Given the description of an element on the screen output the (x, y) to click on. 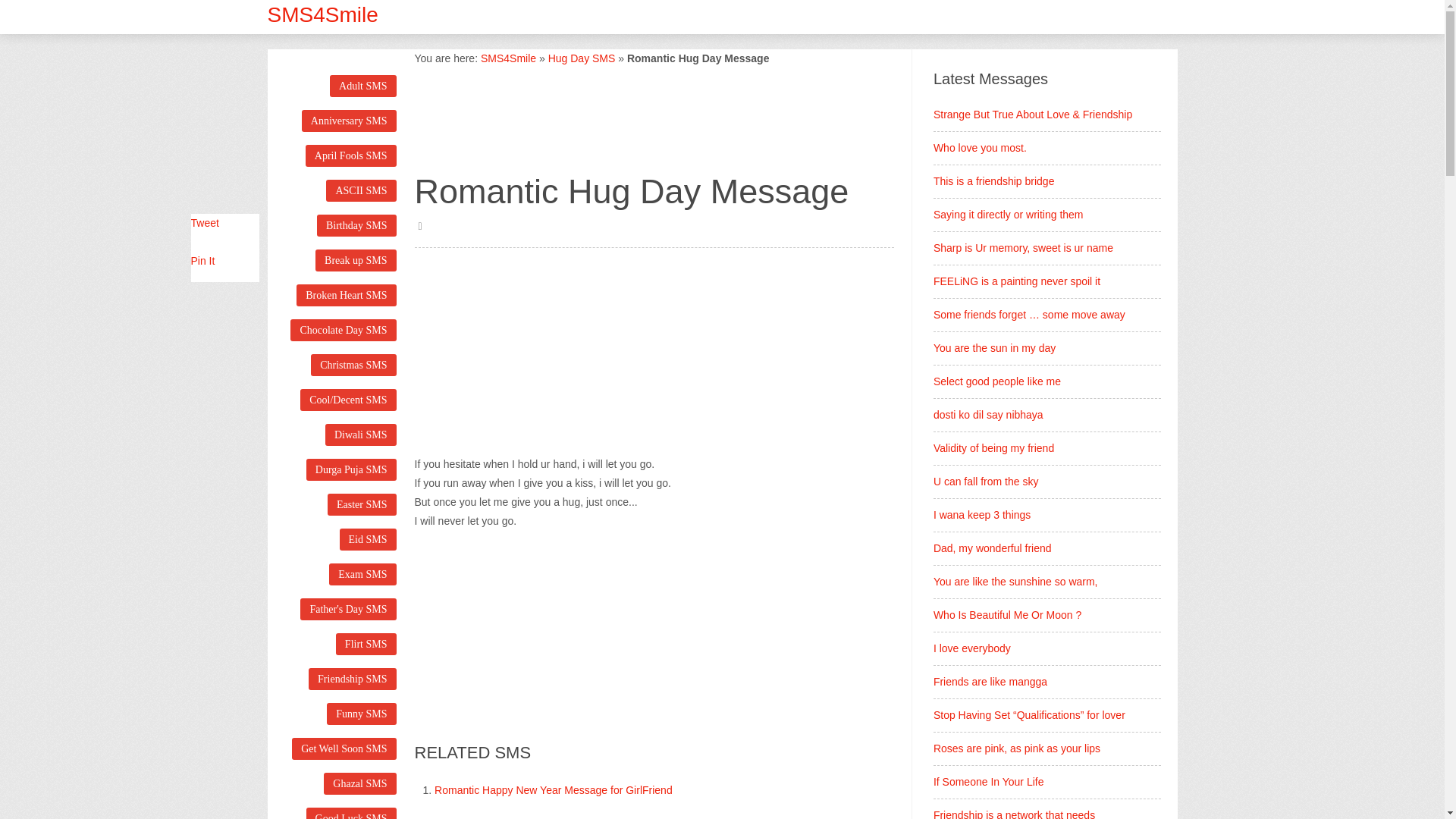
Chocolate Day SMS (342, 330)
Exam SMS (362, 574)
Anniversary SMS (348, 120)
Get Well Soon SMS (344, 748)
Adult SMS (363, 86)
SMS4Smile (321, 13)
Durga Puja SMS (350, 469)
Ghazal SMS (359, 783)
ASCII SMS (361, 190)
Advertisement (527, 353)
